Given the description of an element on the screen output the (x, y) to click on. 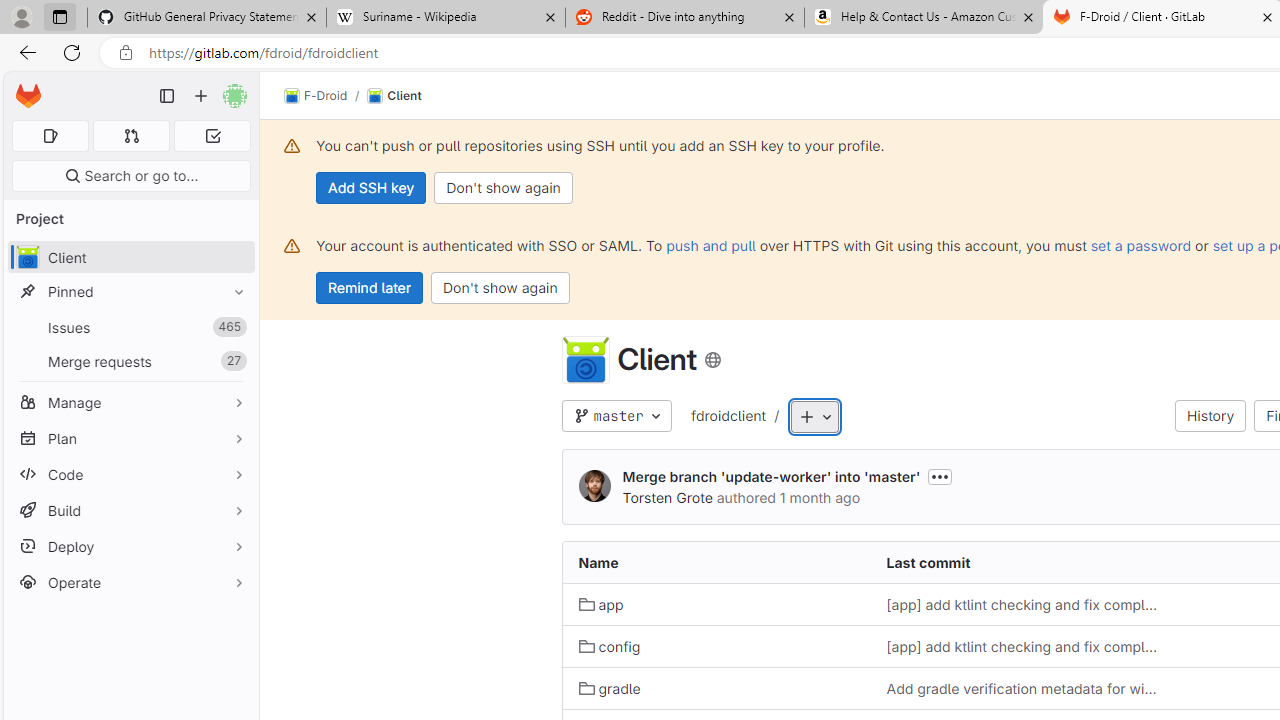
Assigned issues 0 (50, 136)
Add SSH key (371, 187)
app (601, 605)
Code (130, 474)
Add gradle verification metadata for windows (1024, 687)
Operate (130, 582)
F-Droid (316, 96)
Operate (130, 582)
F-Droid/ (326, 96)
Torsten Grote's avatar (594, 487)
Remind later (369, 287)
[app] add ktlint checking and fix complaints it has (1024, 646)
To-Do list 0 (212, 136)
